Given the description of an element on the screen output the (x, y) to click on. 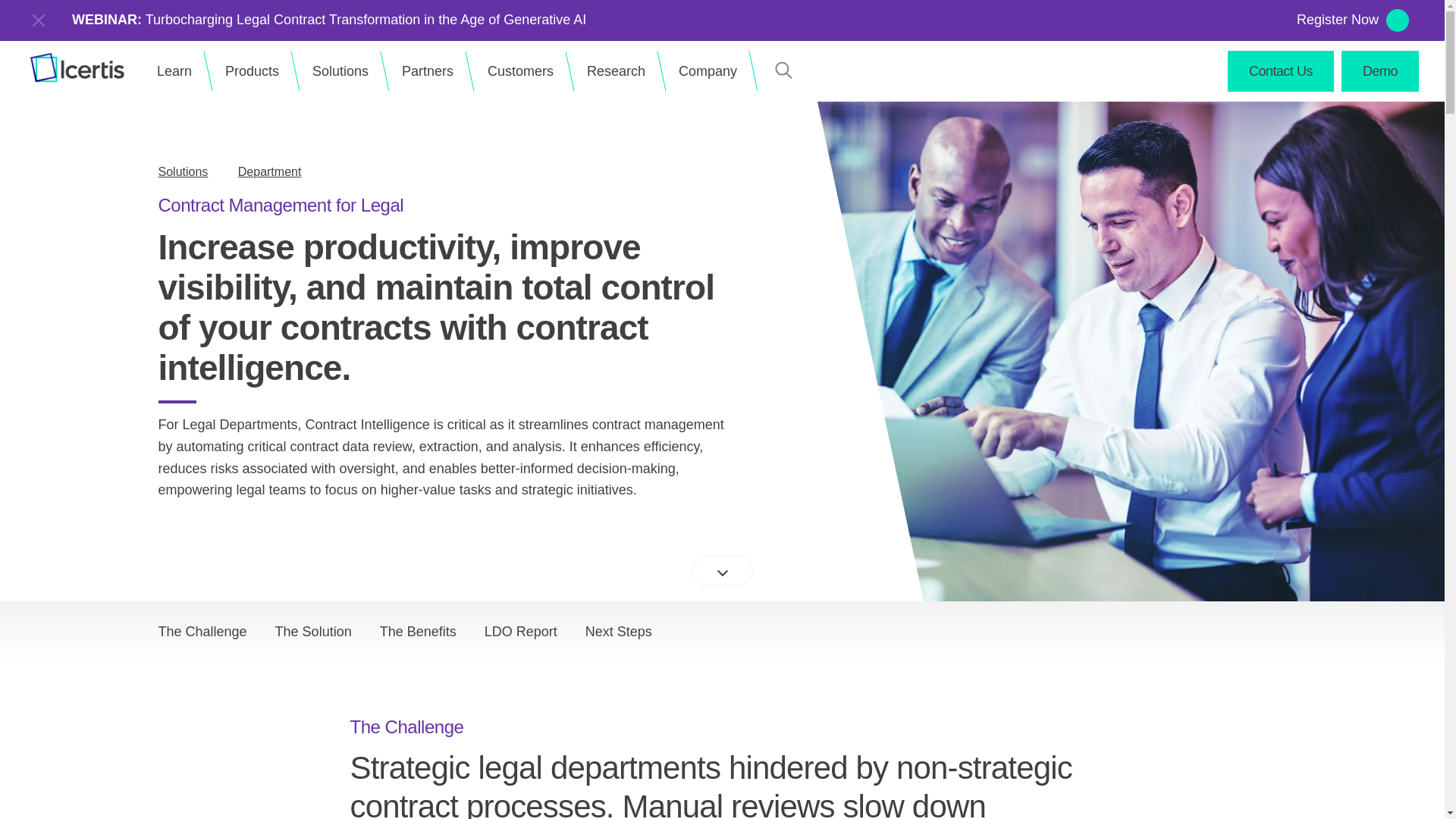
Learn (173, 70)
Register Now (1337, 20)
Products (251, 70)
Solutions (340, 70)
